Given the description of an element on the screen output the (x, y) to click on. 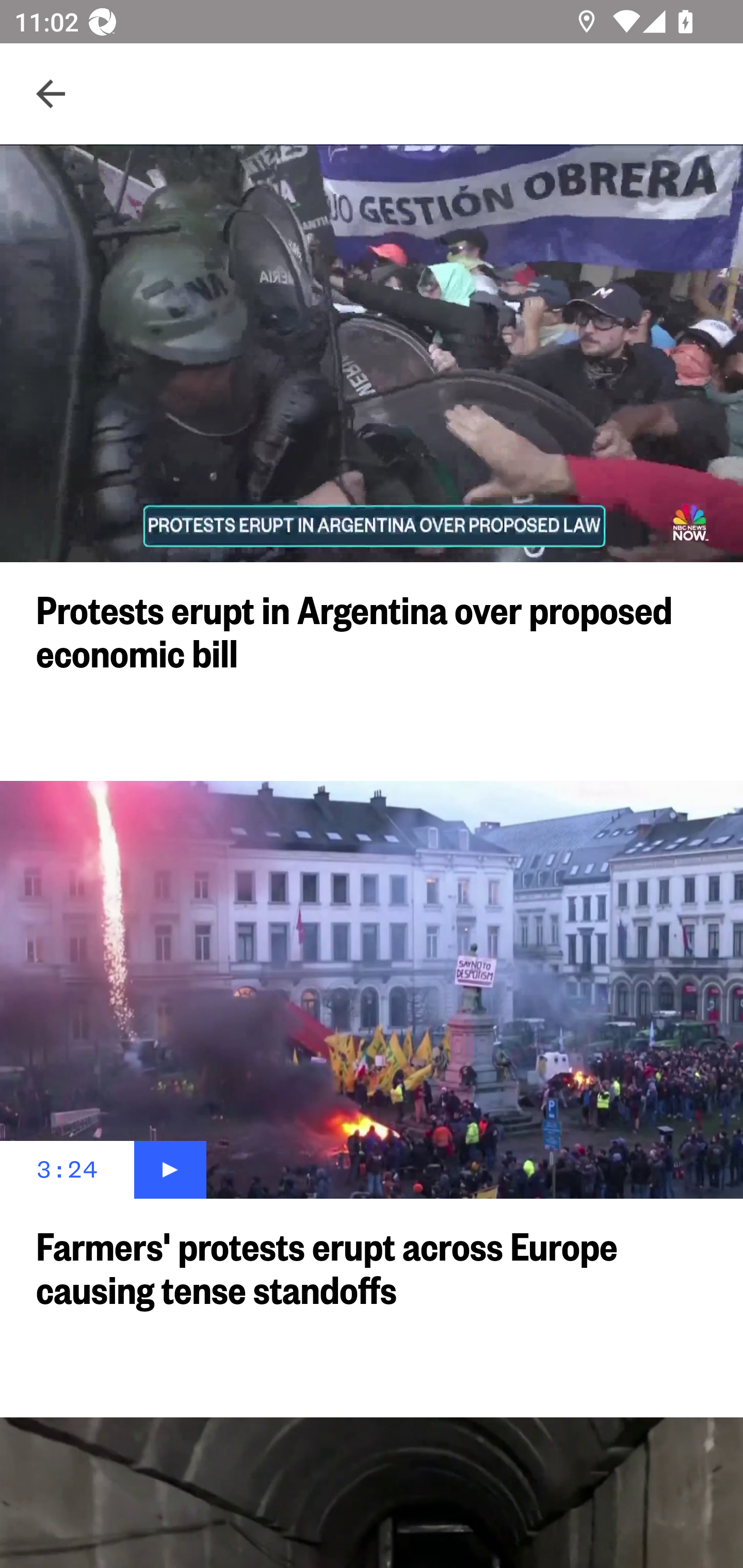
Navigate up (50, 93)
